Given the description of an element on the screen output the (x, y) to click on. 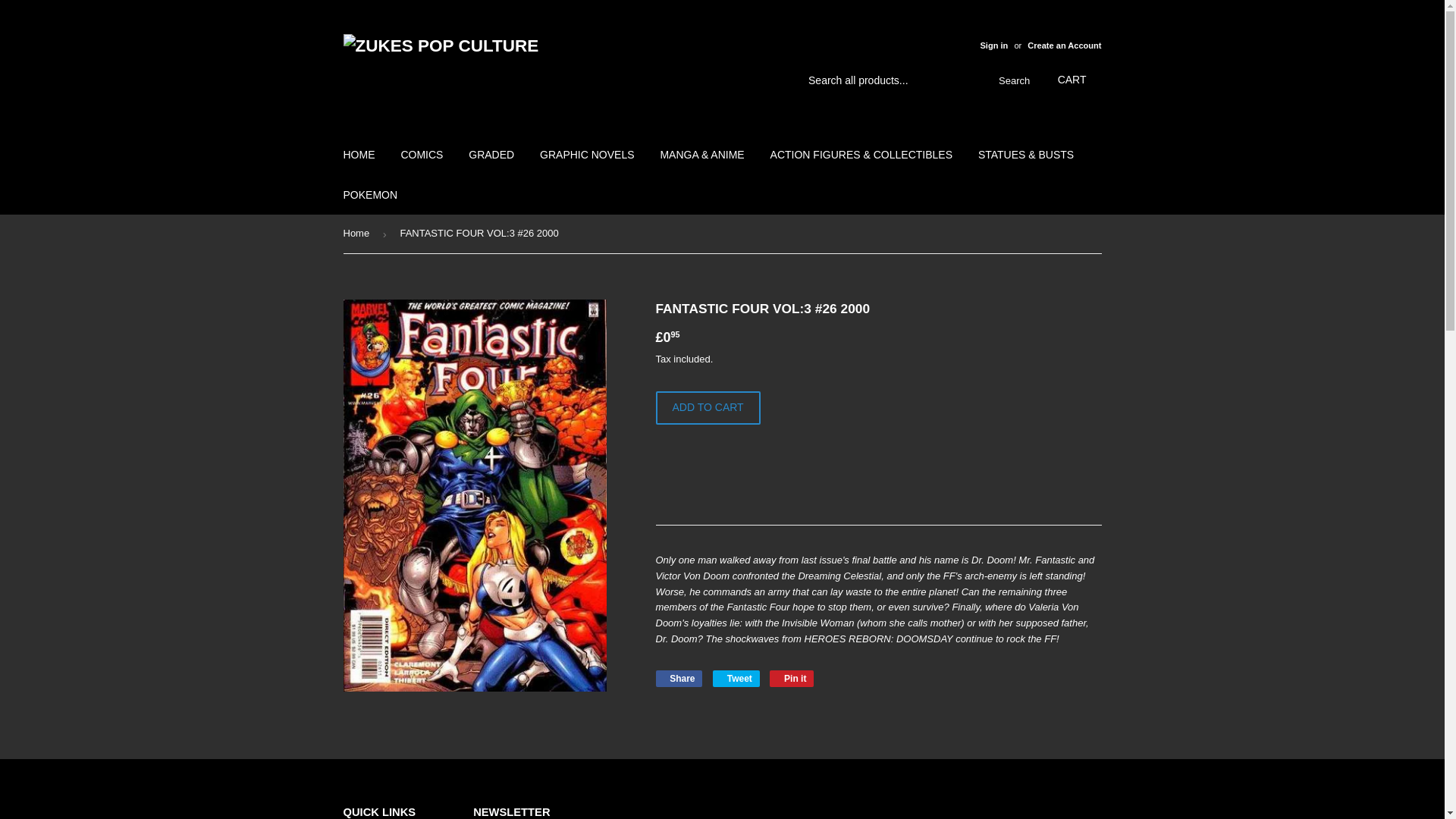
CART (1072, 80)
Share on Facebook (678, 678)
Search (1010, 81)
Sign in (993, 44)
Tweet on Twitter (736, 678)
Pin on Pinterest (791, 678)
Create an Account (1063, 44)
